Given the description of an element on the screen output the (x, y) to click on. 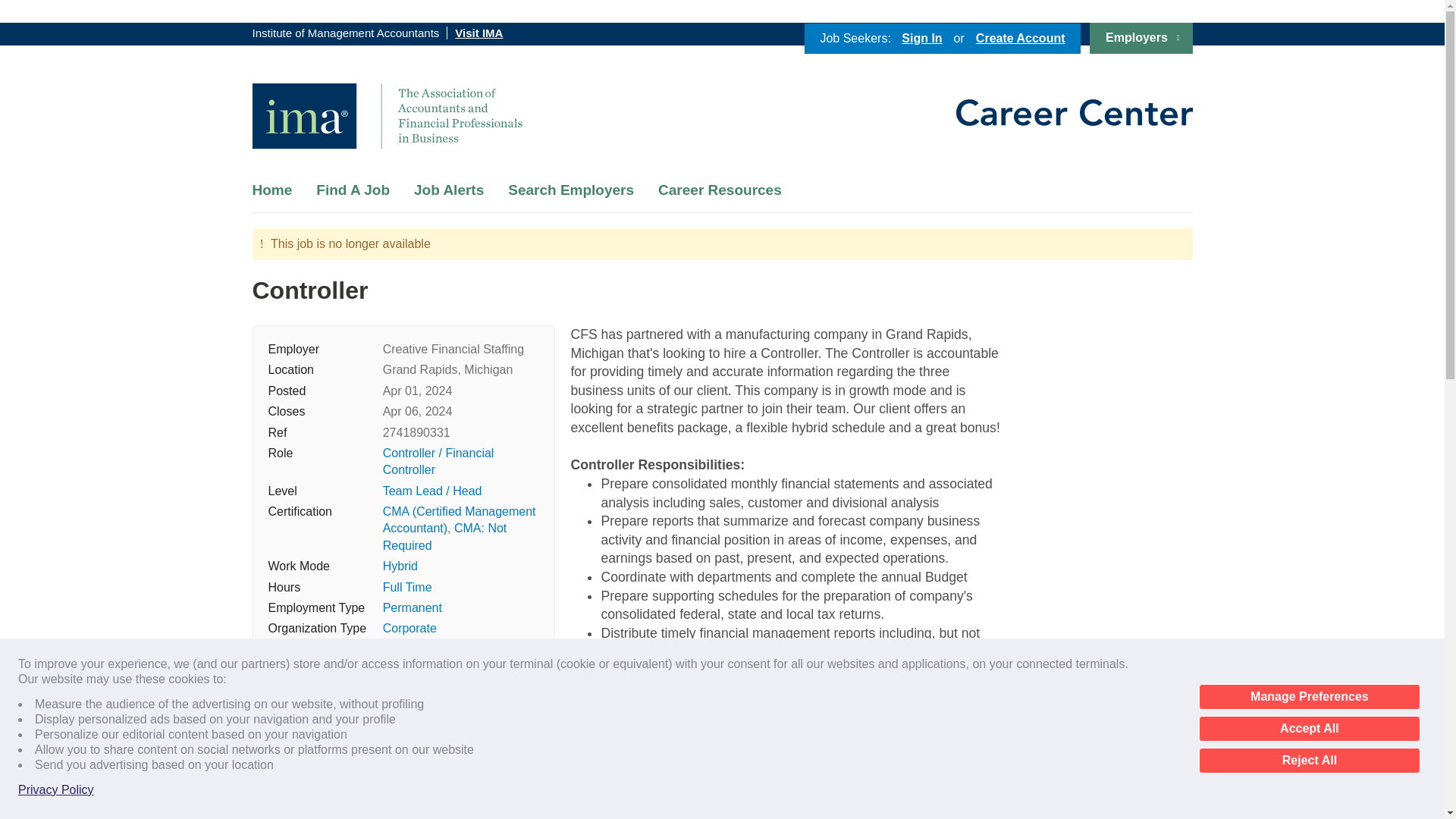
Search Employers (570, 189)
Full Time (407, 586)
Career Resources (719, 189)
CMA: Not Required (444, 536)
Privacy Policy (55, 789)
Corporate (409, 627)
IMA Career Center (386, 116)
Reject All (1309, 760)
Create Account (1020, 38)
Job Alerts (448, 189)
Accept All (1309, 728)
Hybrid (399, 565)
Manage Preferences (1309, 696)
Career Center (1073, 112)
Employers (1140, 38)
